Given the description of an element on the screen output the (x, y) to click on. 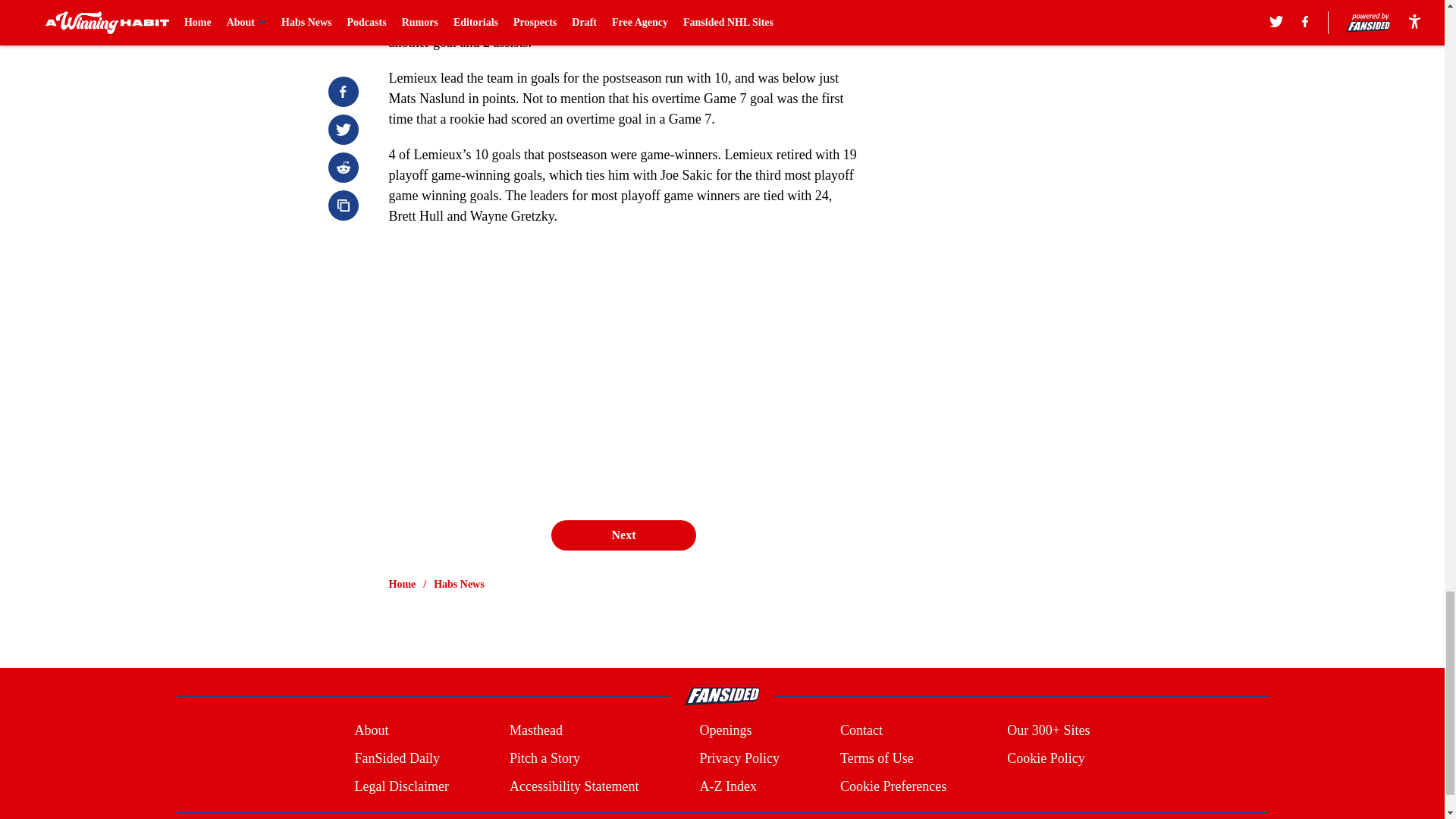
Contact (861, 730)
Habs News (458, 584)
FanSided Daily (396, 758)
Next (622, 535)
Masthead (535, 730)
Home (401, 584)
Openings (724, 730)
Pitch a Story (544, 758)
About (370, 730)
